Given the description of an element on the screen output the (x, y) to click on. 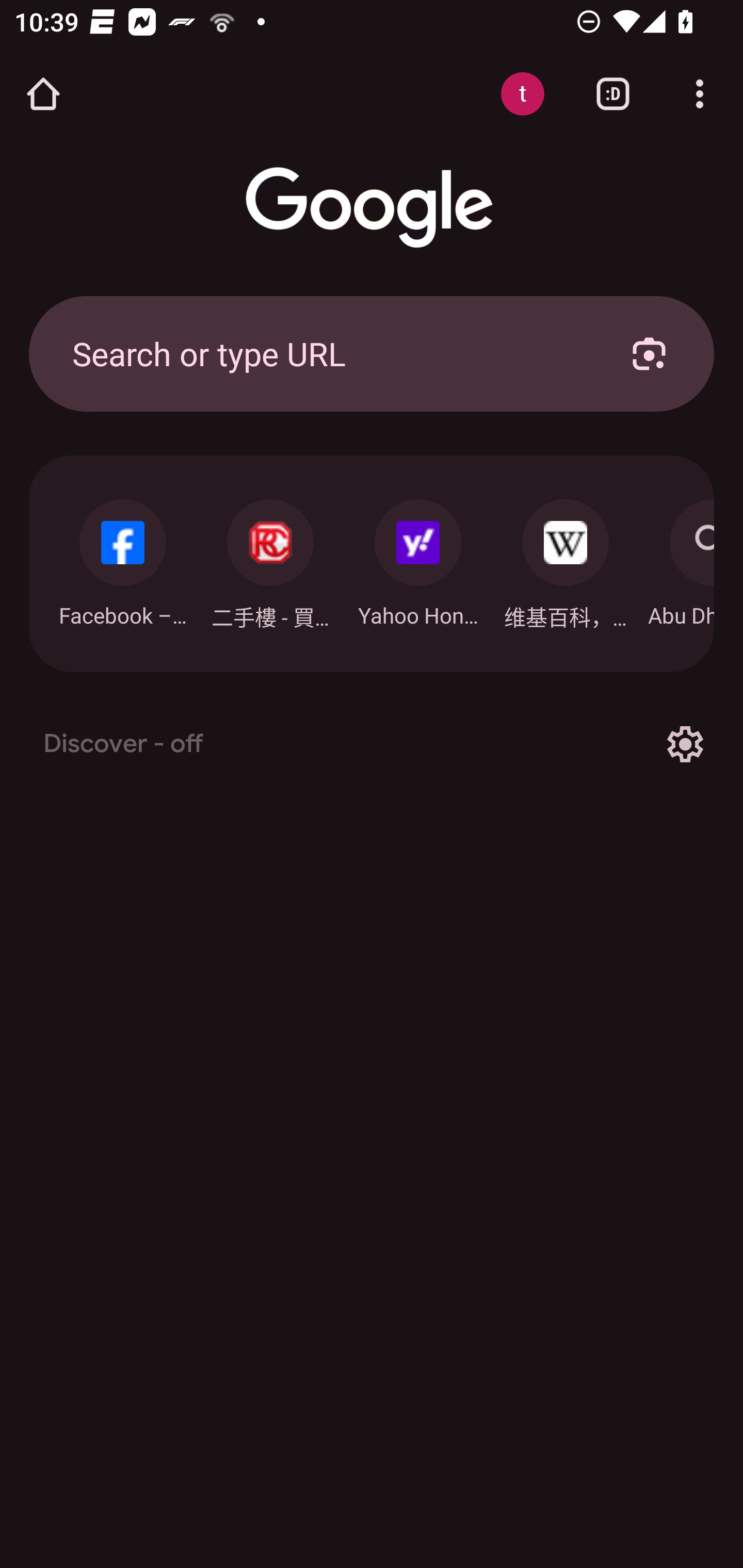
Open the home page (43, 93)
Switch or close tabs (612, 93)
Customize and control Google Chrome (699, 93)
Search or type URL (327, 353)
Search with your camera using Google Lens (648, 353)
Options for Discover (684, 743)
